Given the description of an element on the screen output the (x, y) to click on. 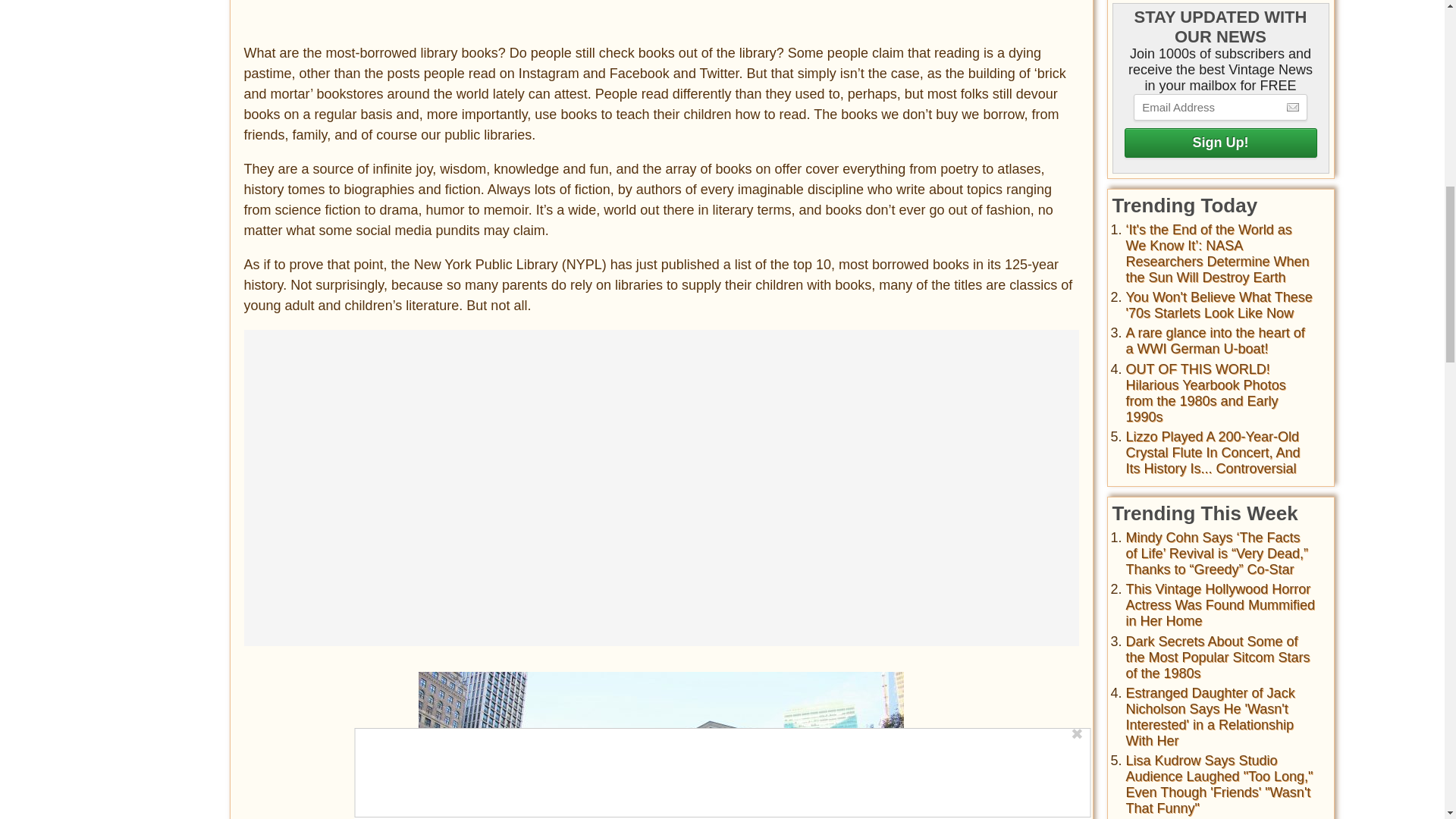
Sign Up! (1220, 142)
